Given the description of an element on the screen output the (x, y) to click on. 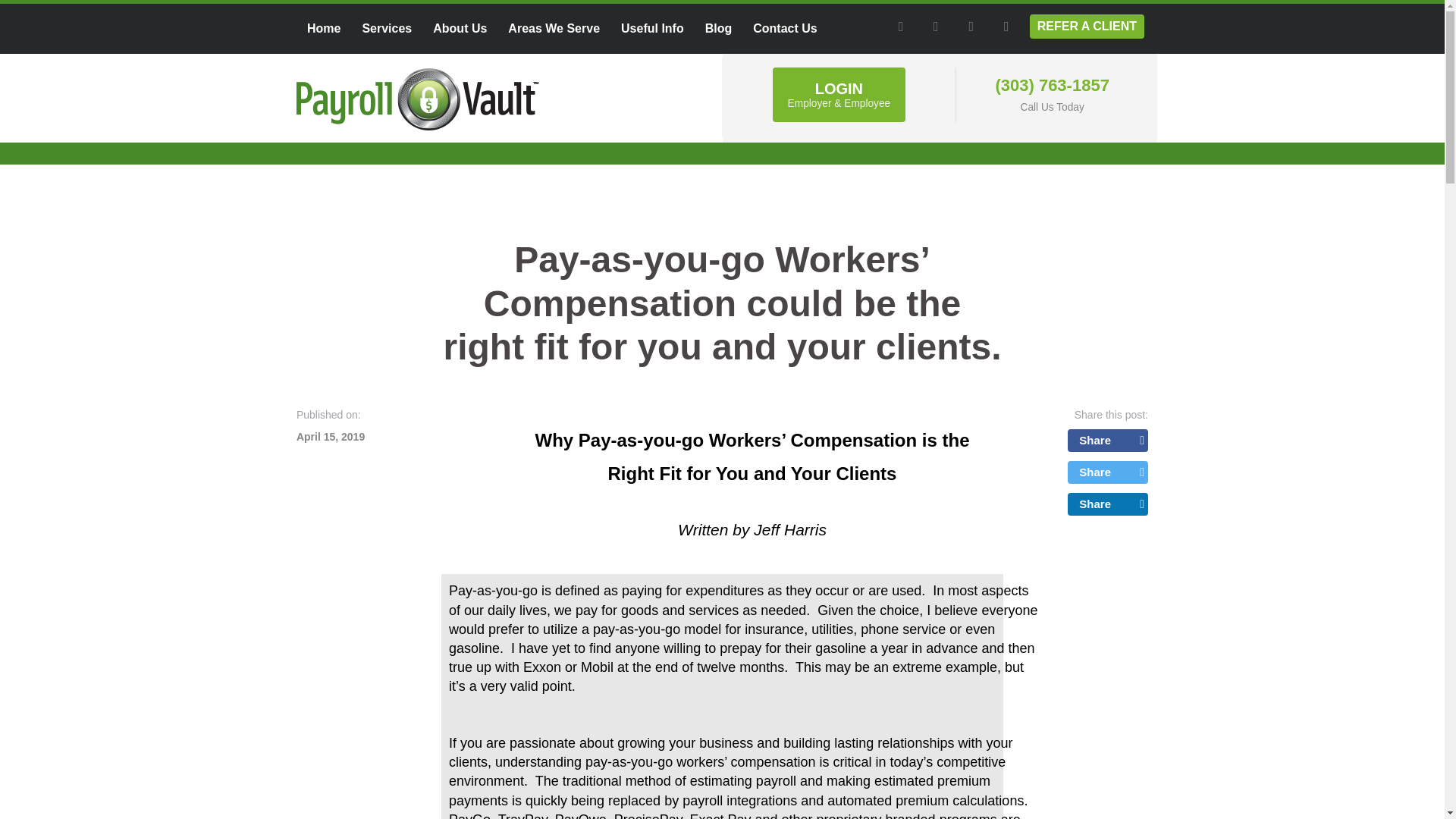
Our Services-page (386, 29)
Blog (718, 29)
Contact Us (784, 29)
Share (1107, 472)
LINKEDIN (971, 26)
Areas We Serve (553, 29)
About Us-page (459, 29)
Home (323, 29)
Share (1107, 440)
